Given the description of an element on the screen output the (x, y) to click on. 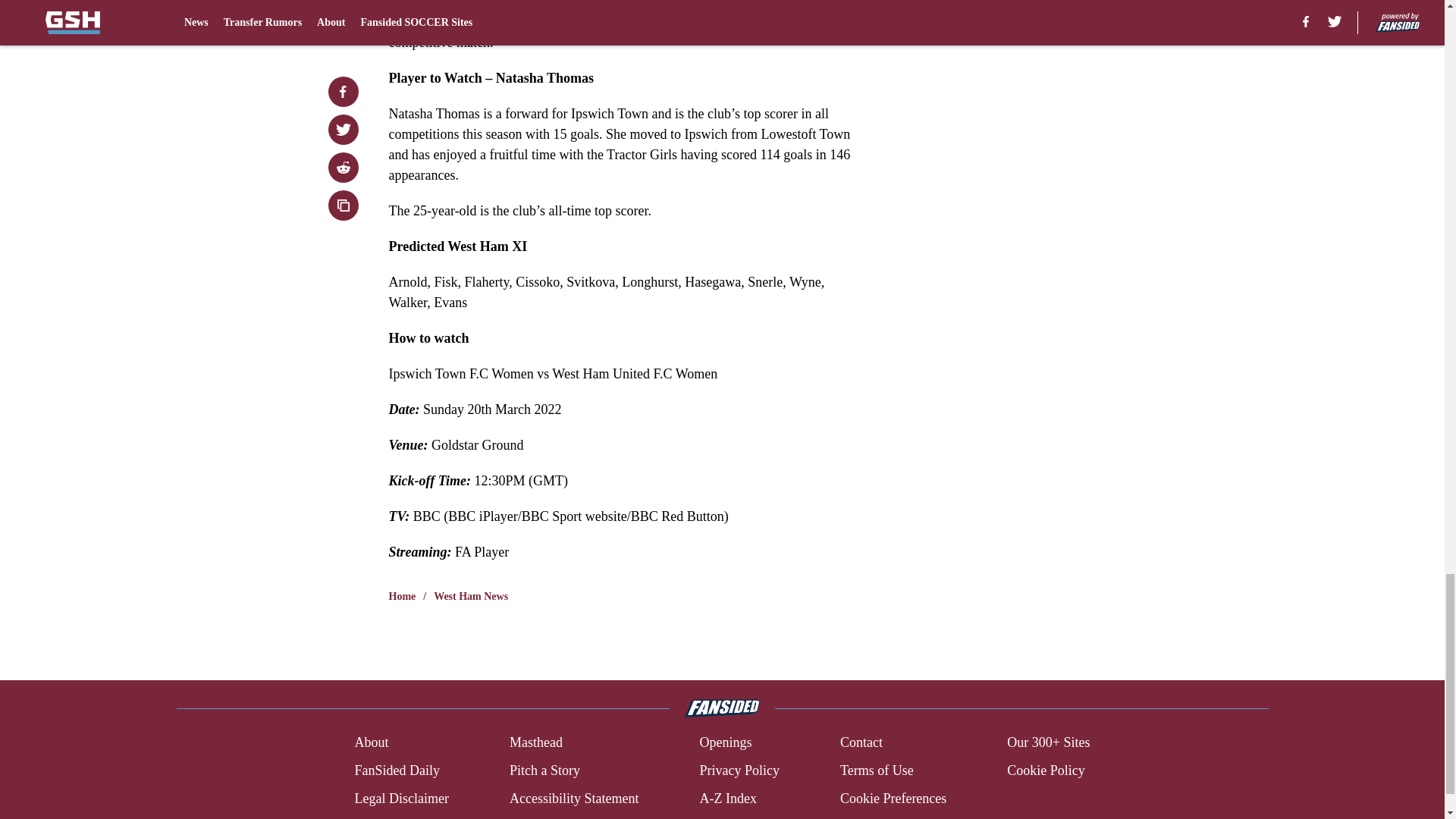
FanSided Daily (396, 770)
Pitch a Story (544, 770)
Legal Disclaimer (400, 798)
Accessibility Statement (574, 798)
Privacy Policy (738, 770)
Cookie Preferences (893, 798)
About (370, 742)
A-Z Index (726, 798)
Cookie Policy (1045, 770)
Masthead (535, 742)
Home (401, 596)
Terms of Use (877, 770)
West Ham News (470, 596)
Openings (724, 742)
Contact (861, 742)
